Given the description of an element on the screen output the (x, y) to click on. 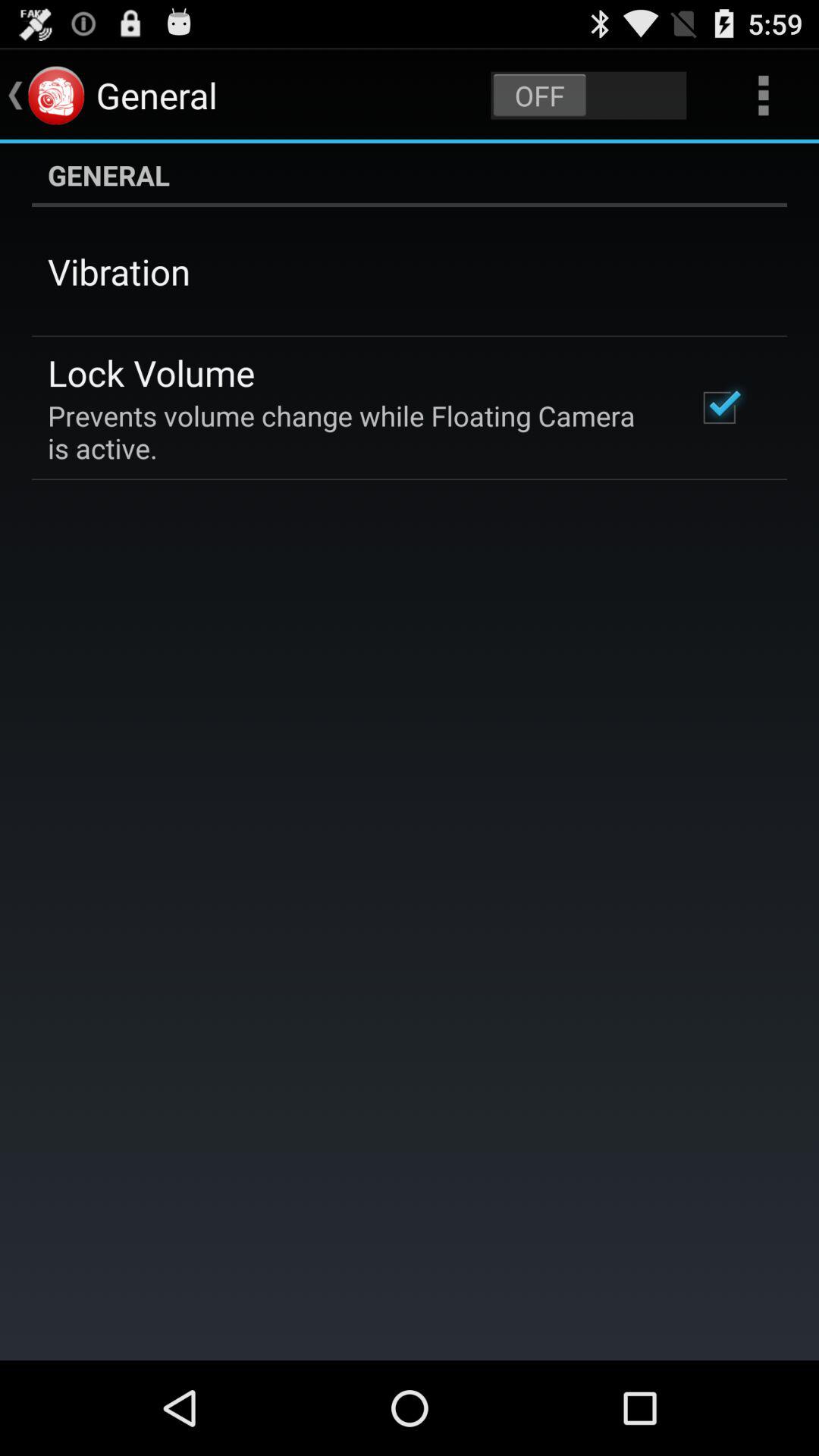
click the lock volume item (150, 372)
